Given the description of an element on the screen output the (x, y) to click on. 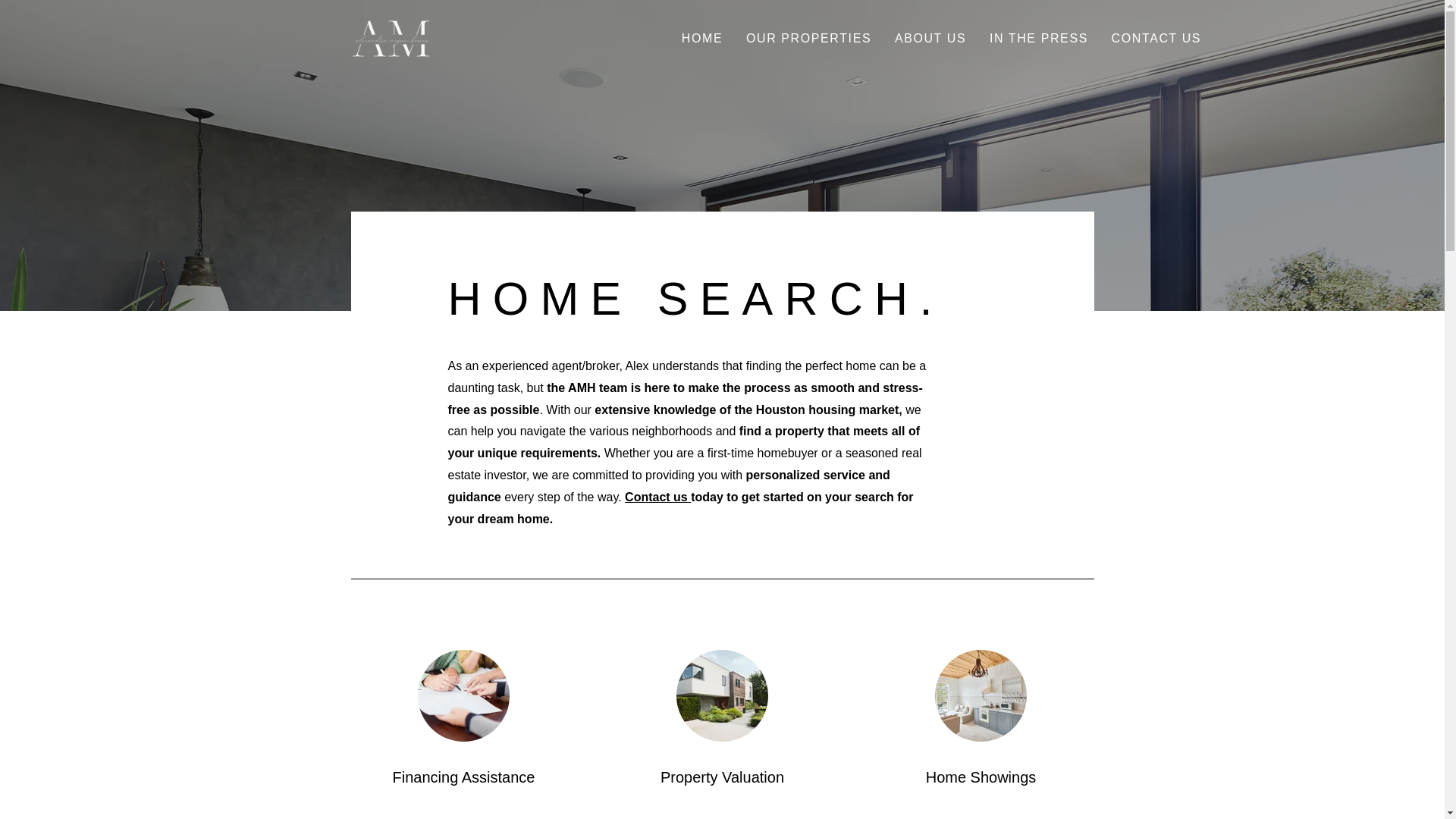
HOME (702, 38)
Contact us (657, 496)
CONTACT US (1155, 38)
ABOUT US (930, 38)
IN THE PRESS (1039, 38)
OUR PROPERTIES (809, 38)
